Given the description of an element on the screen output the (x, y) to click on. 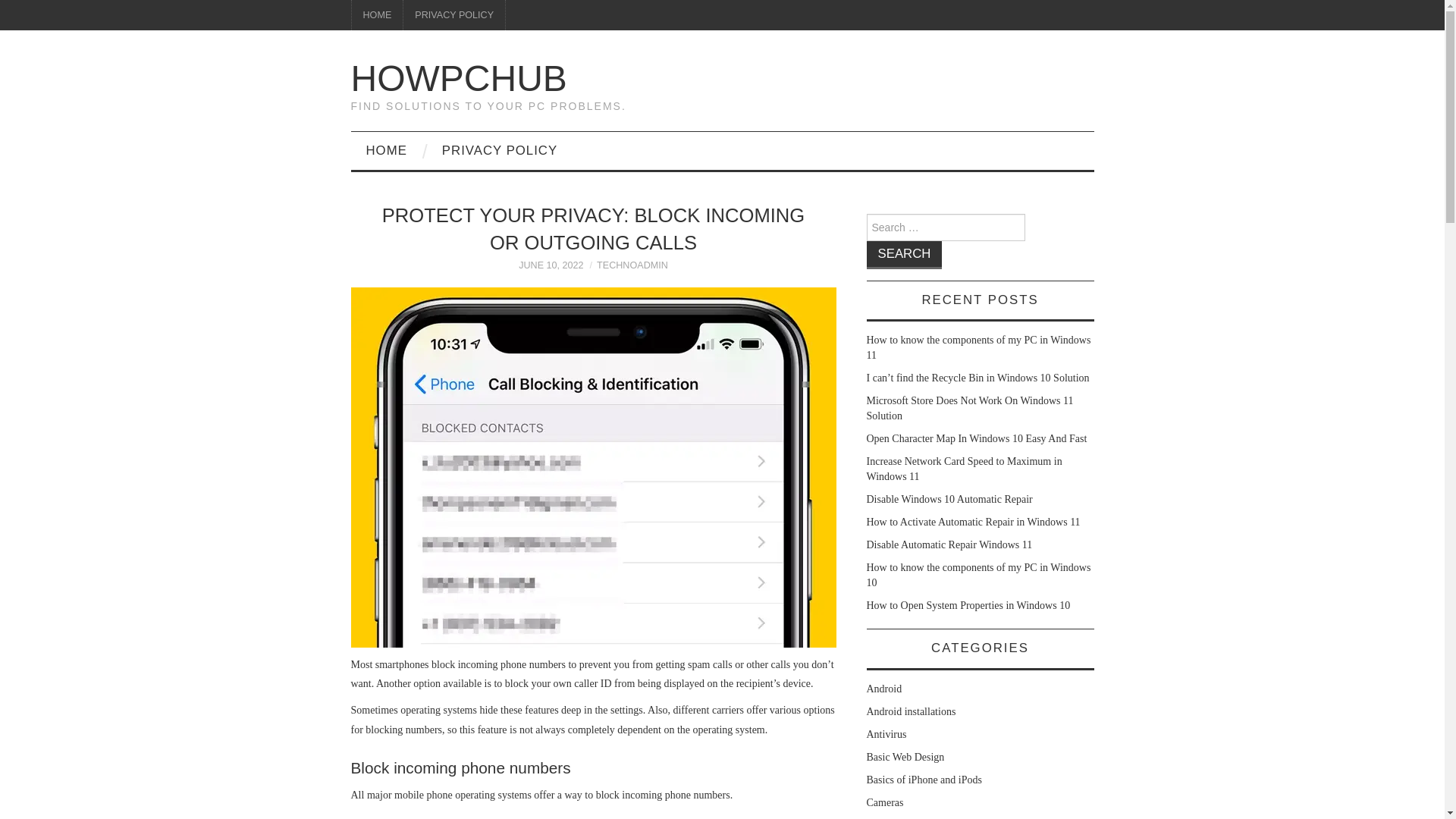
Increase Network Card Speed to Maximum in Windows 11 (963, 468)
How to know the components of my PC in Windows 10 (978, 574)
Search for: (945, 226)
Android installations (910, 710)
Disable Automatic Repair Windows 11 (949, 544)
TECHNOADMIN (632, 265)
Search (904, 254)
Search (904, 254)
Basic Web Design (904, 756)
HowPChub (458, 78)
